Given the description of an element on the screen output the (x, y) to click on. 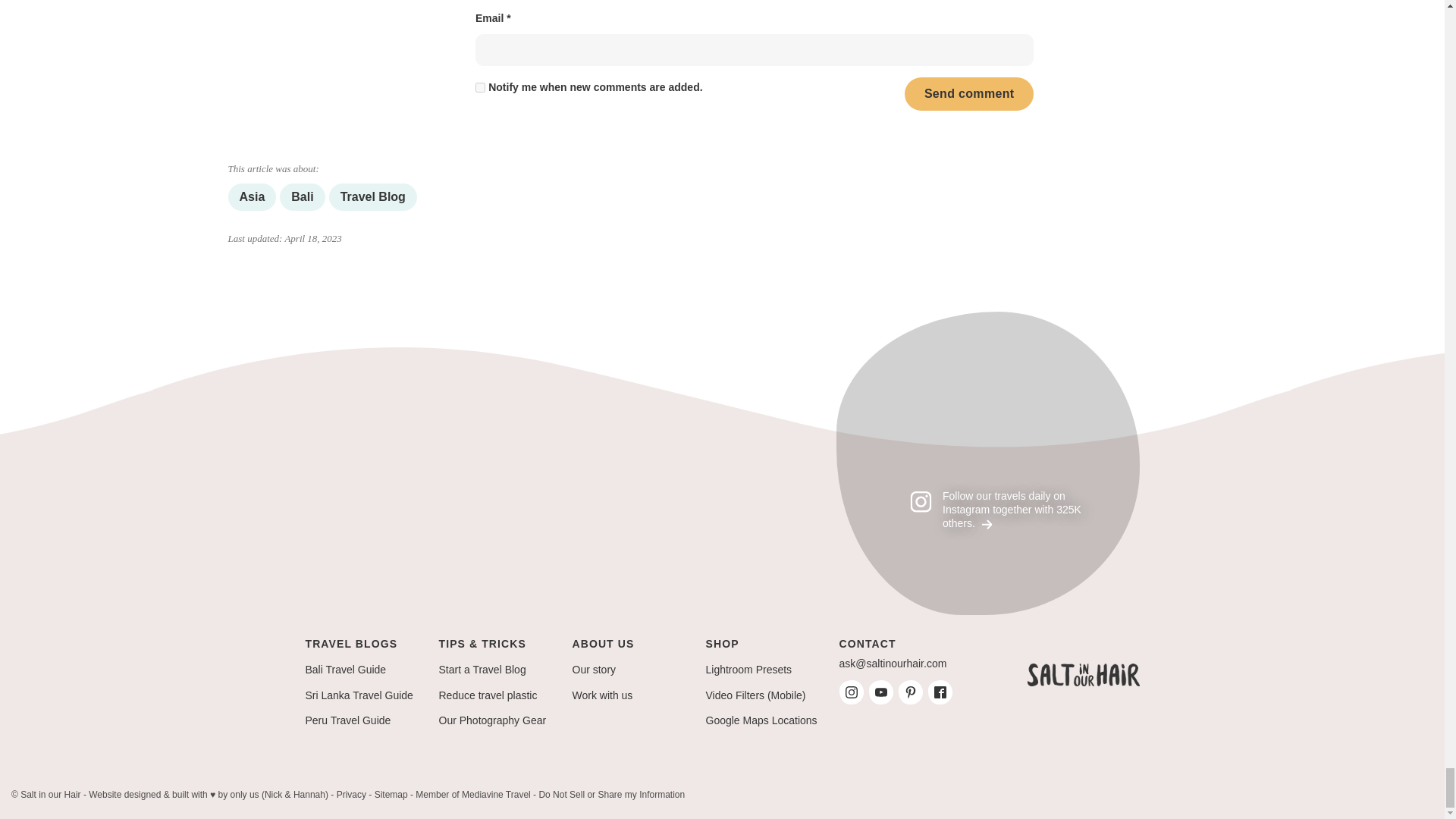
Send comment (968, 93)
